Given the description of an element on the screen output the (x, y) to click on. 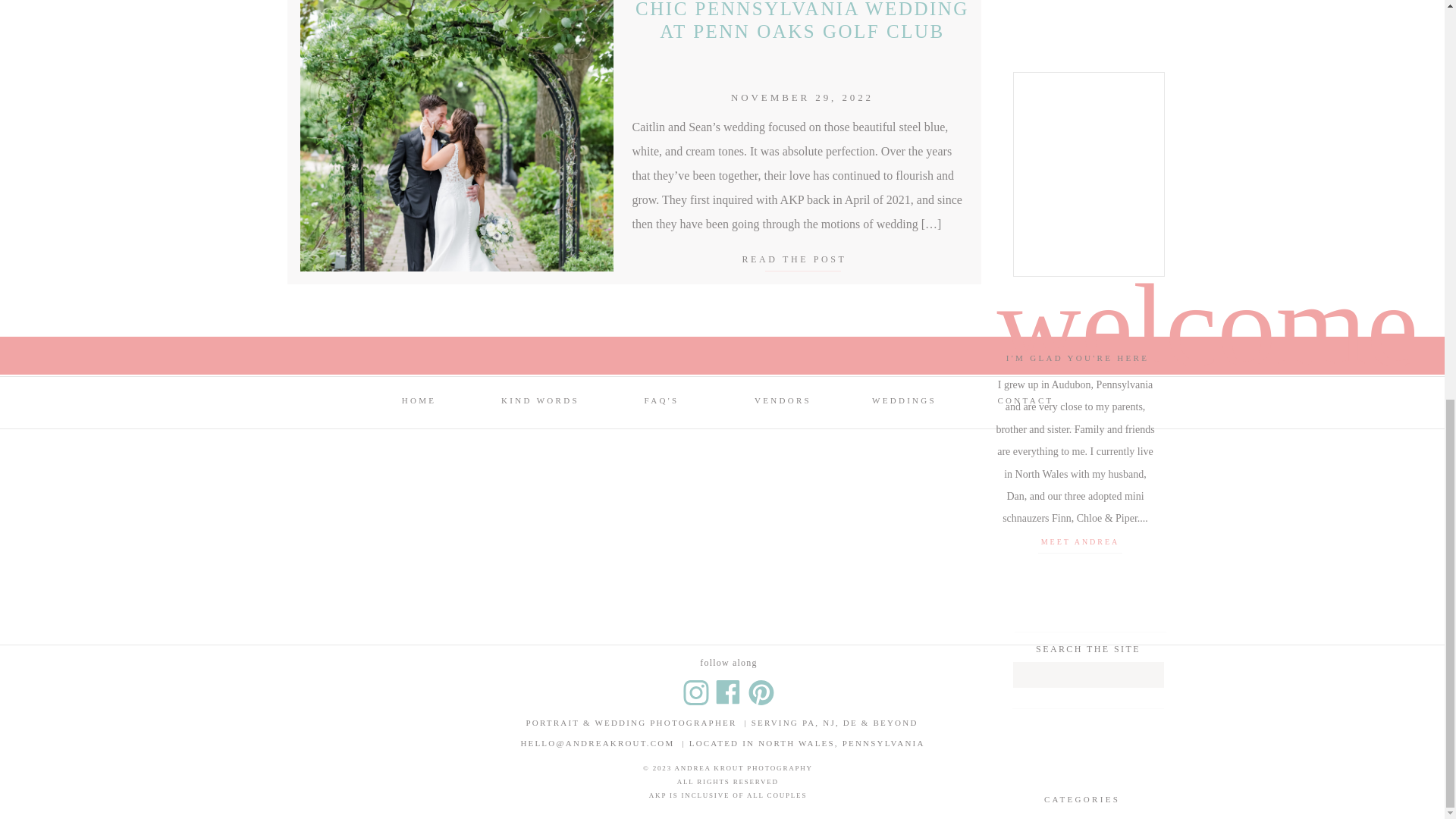
Instagram-color Created with Sketch. (695, 692)
Page 1 Copy 2Created with Sketch. (759, 692)
Facebook Copy-color Created with Sketch. (727, 692)
MEET ANDREA (1079, 542)
READ THE POST (801, 258)
Chic Pennsylvania Wedding at Penn Oaks Golf Club (801, 258)
